Given the description of an element on the screen output the (x, y) to click on. 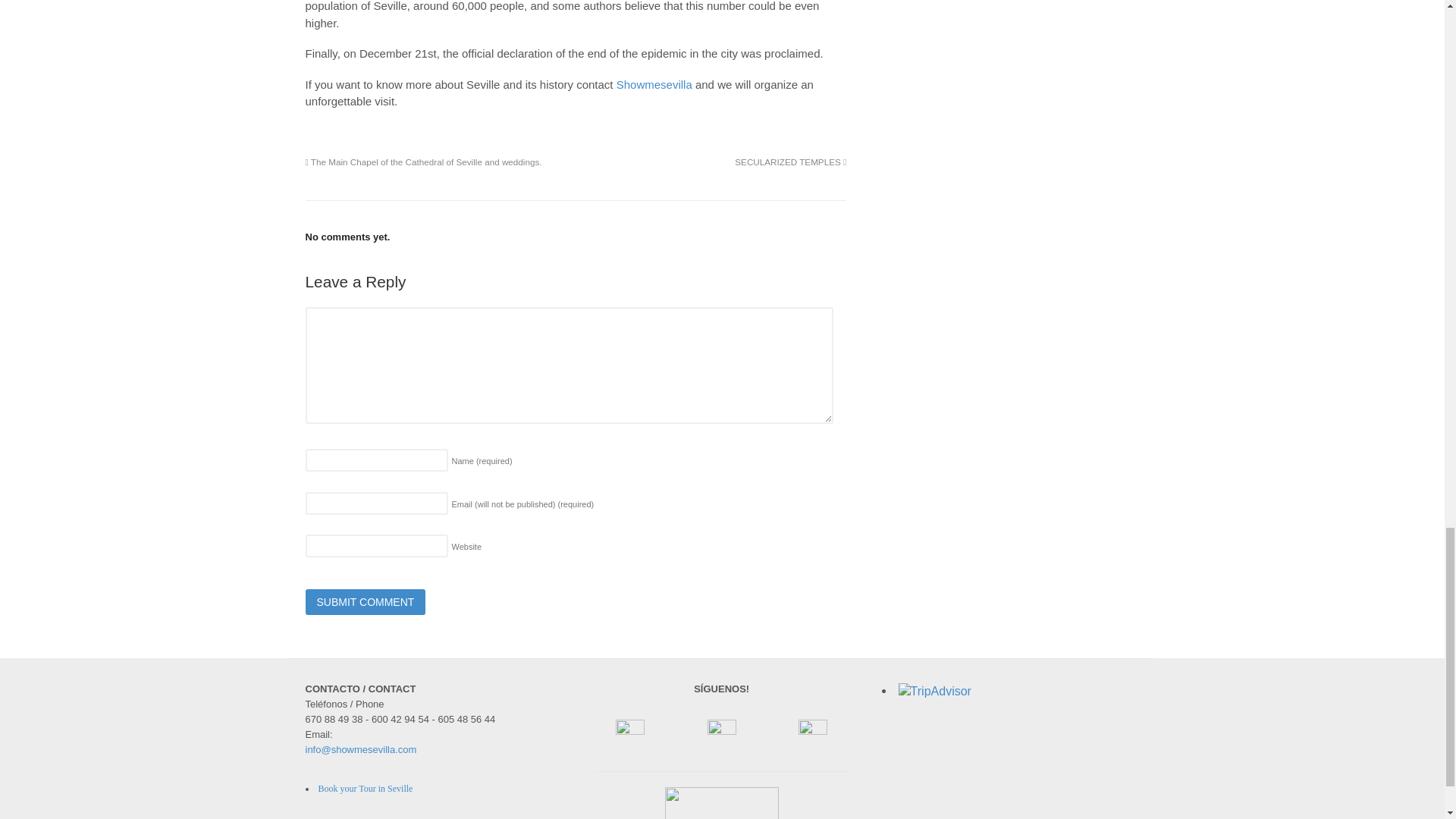
Submit Comment (364, 601)
Book your Tour in Seville (365, 787)
SECULARIZED TEMPLES (790, 162)
The Main Chapel of the Cathedral of Seville and weddings. (422, 162)
Submit Comment (364, 601)
Showmesevilla (654, 83)
